Given the description of an element on the screen output the (x, y) to click on. 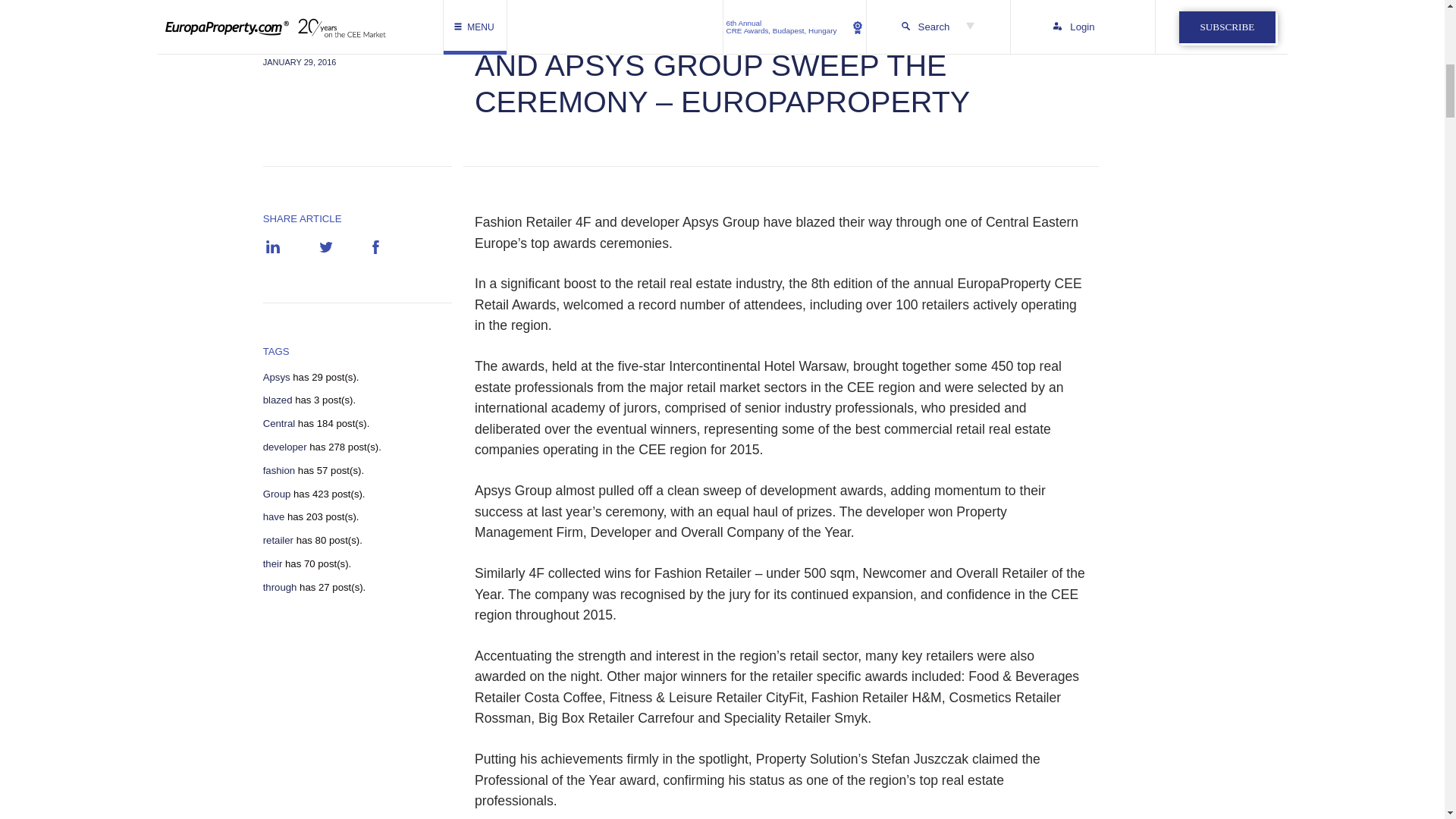
View all posts in Group (277, 494)
View all posts in retailer (278, 540)
through (280, 587)
blazed (277, 399)
View all posts in blazed (277, 399)
View all posts in through (280, 587)
View all posts in their (272, 563)
retailer (278, 540)
View all posts in fashion (279, 470)
View all posts in have (274, 517)
